Given the description of an element on the screen output the (x, y) to click on. 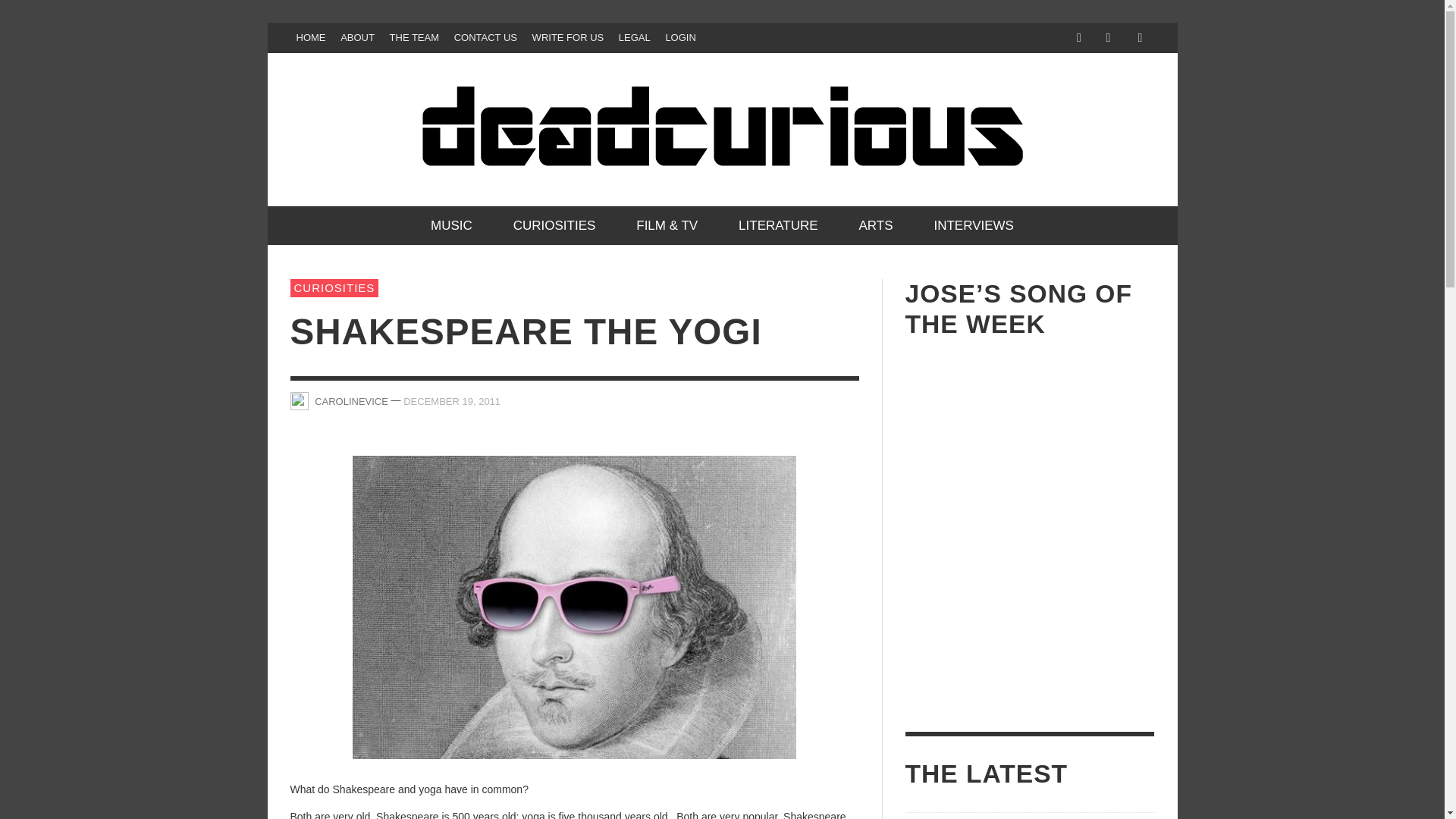
HOME (310, 37)
ABOUT (357, 37)
Twitter (1107, 37)
THE TEAM (414, 37)
Facebook (1078, 37)
